Given the description of an element on the screen output the (x, y) to click on. 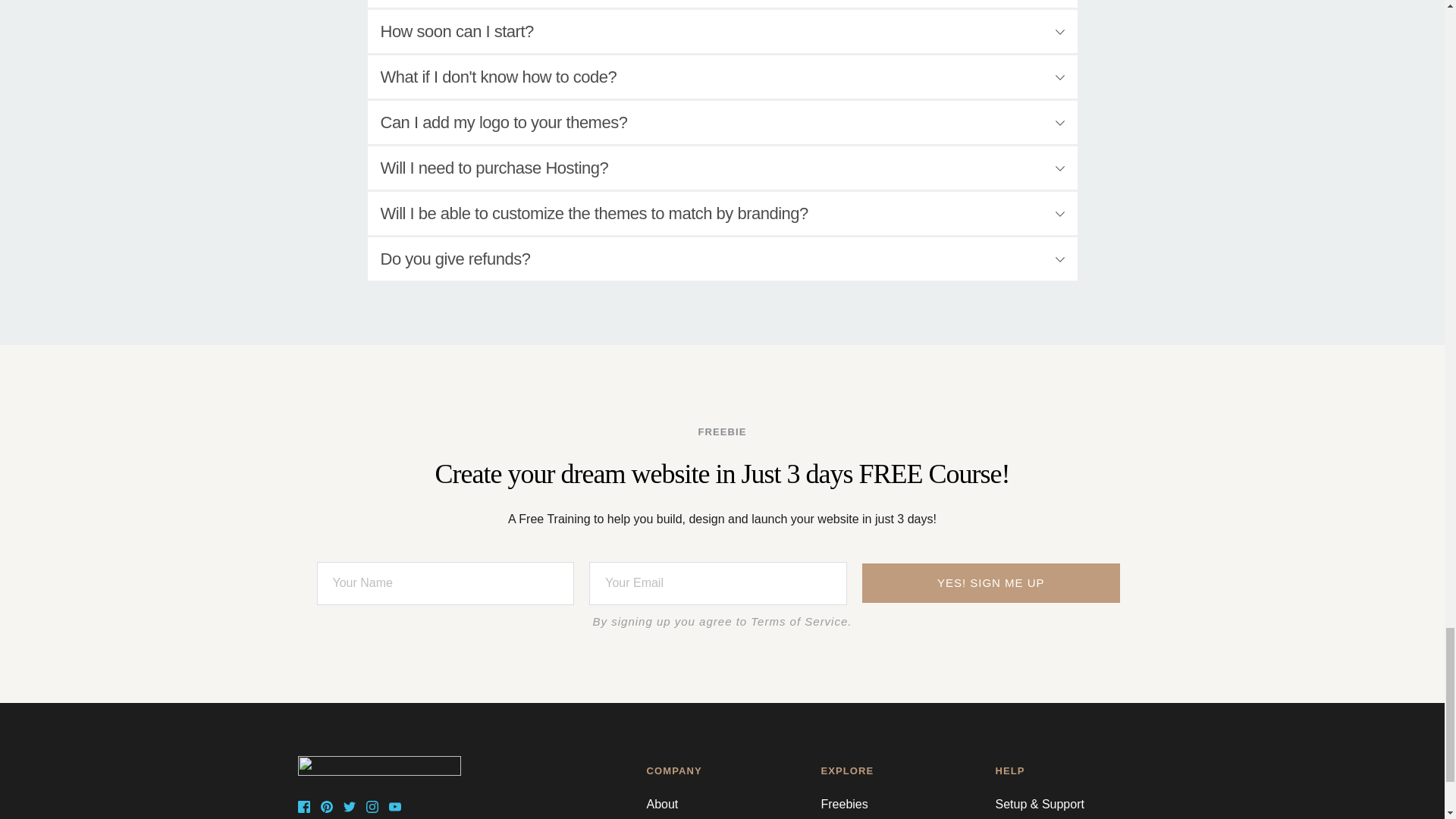
Freebies (844, 803)
About (662, 803)
YES! SIGN ME UP (990, 582)
